Given the description of an element on the screen output the (x, y) to click on. 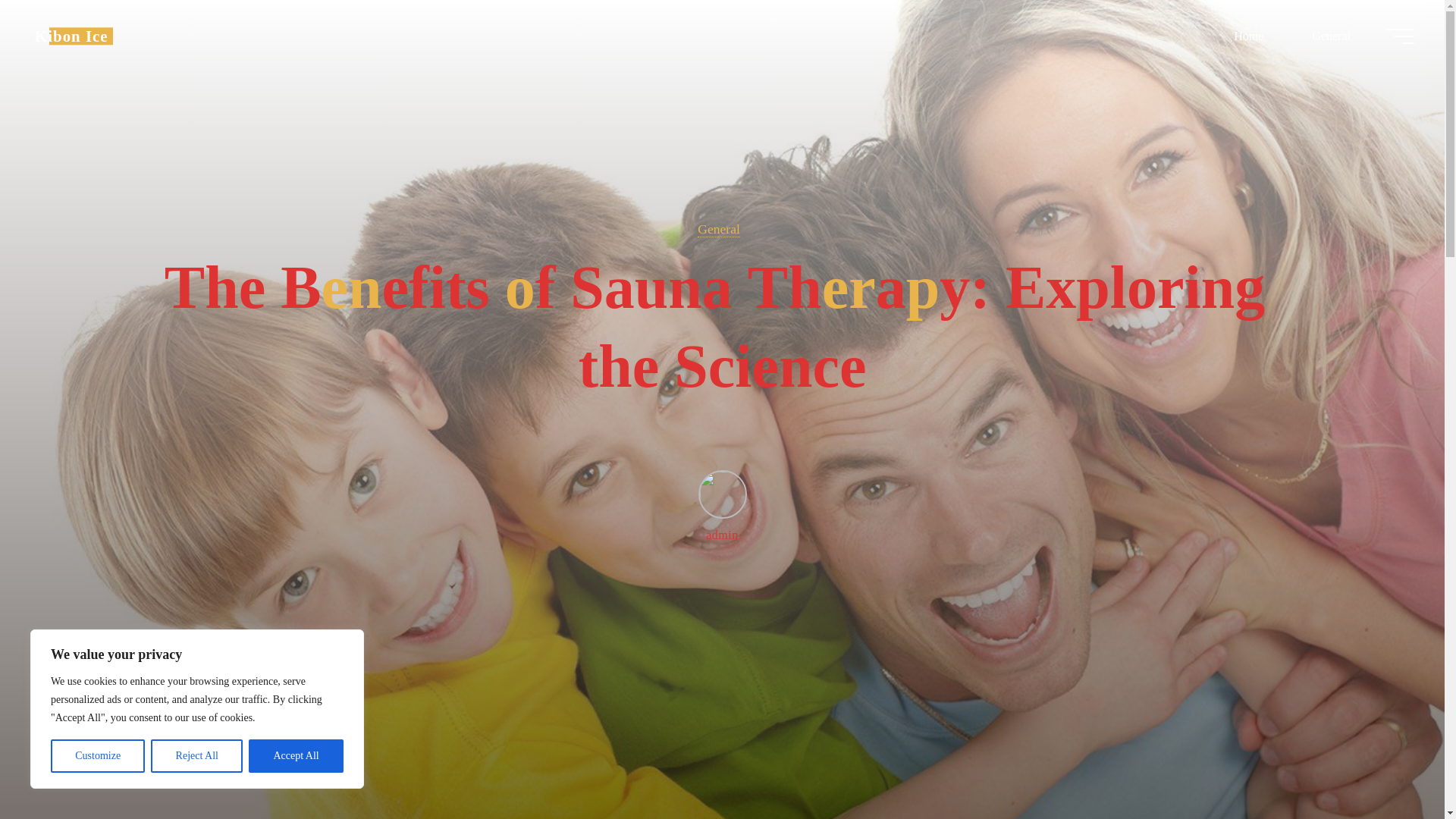
Reject All (197, 756)
Home (1248, 35)
General (1330, 35)
Blog (71, 36)
Customize (97, 756)
General (718, 229)
Read more (721, 724)
Kibon Ice (71, 36)
Accept All (295, 756)
